Given the description of an element on the screen output the (x, y) to click on. 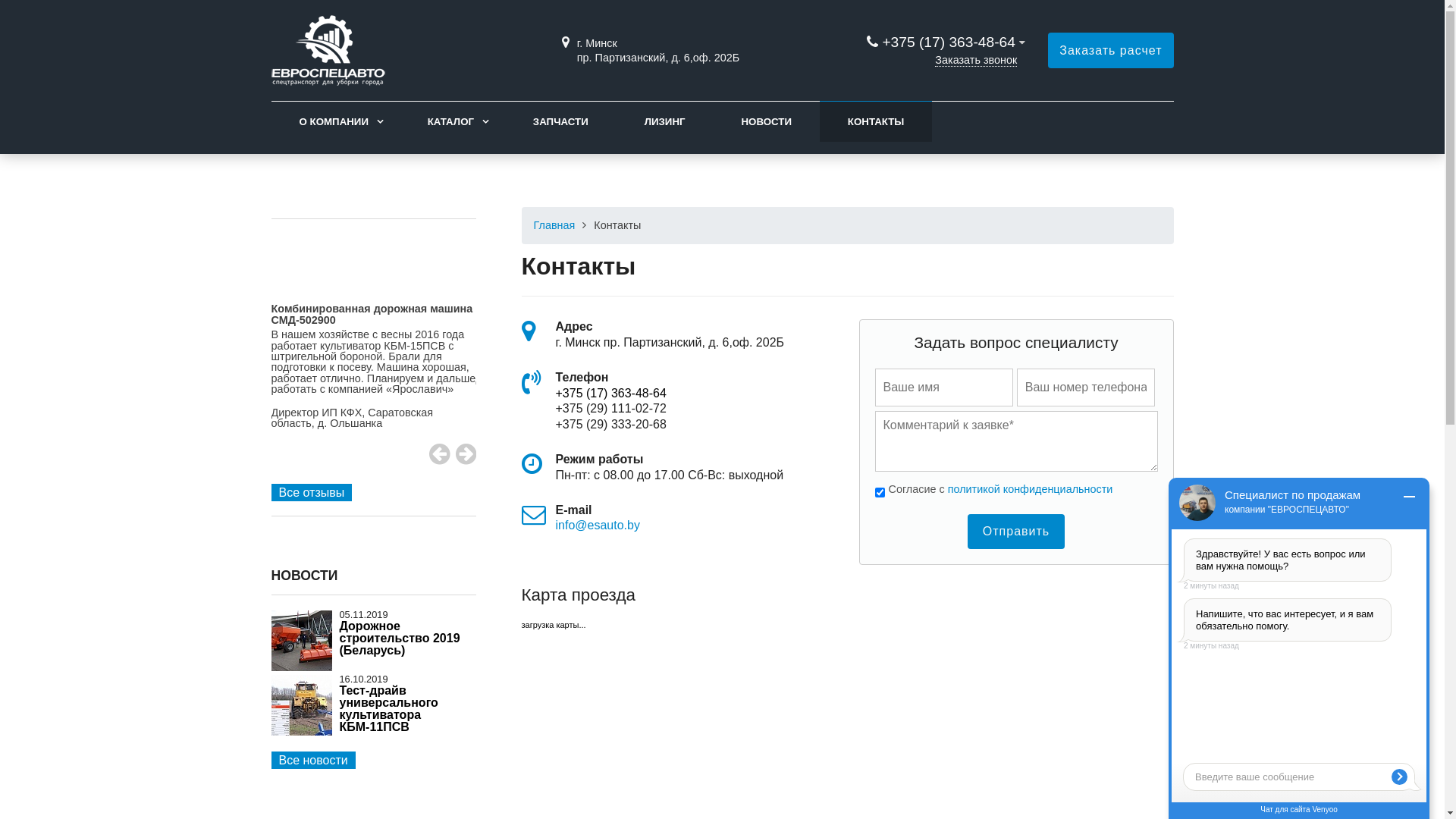
+375 (29) 111-02-72 Element type: text (610, 407)
+375 (17) 363-48-64 Element type: text (610, 392)
info@esauto.by Element type: text (597, 524)
+375 (17) 363-48-64 Element type: text (947, 42)
+375 (29) 333-20-68 Element type: text (610, 423)
